Given the description of an element on the screen output the (x, y) to click on. 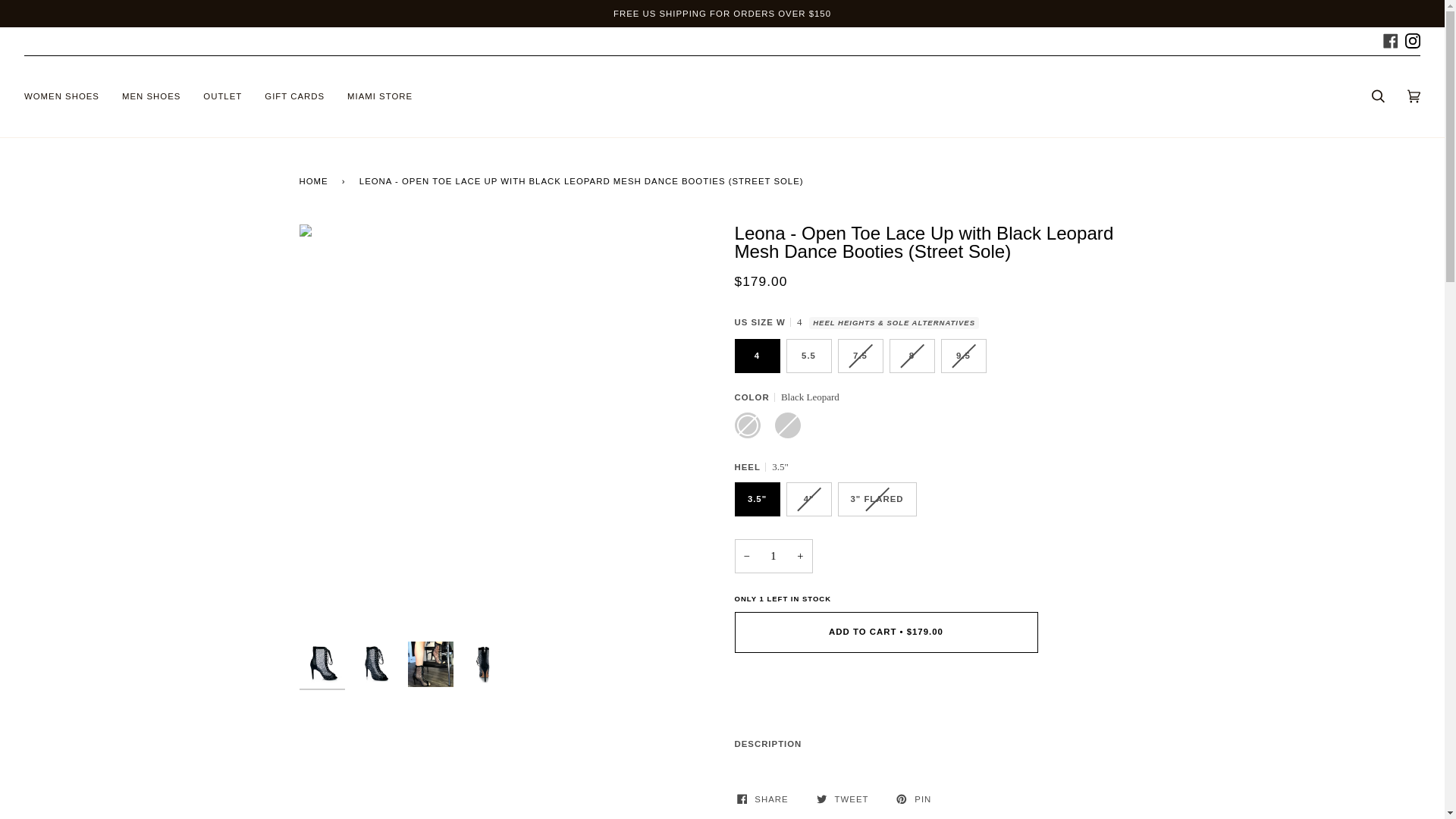
MEN SHOES (151, 96)
Back to the frontpage (315, 180)
Adore Dance Shoes on Facebook (1390, 39)
WOMEN SHOES (61, 96)
Adore Dance Shoes on Instagram (1413, 39)
1 (772, 555)
